Given the description of an element on the screen output the (x, y) to click on. 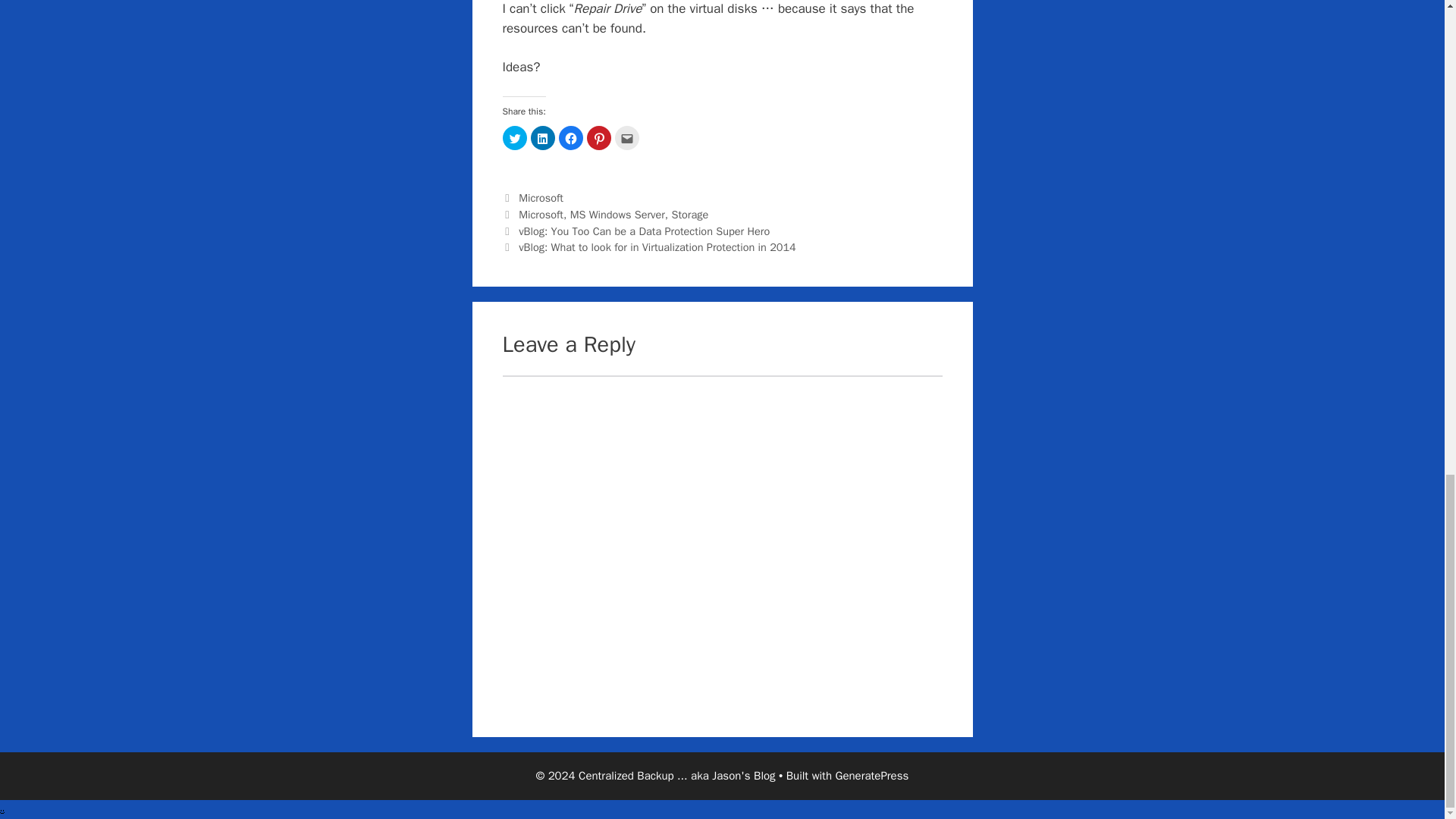
Microsoft (540, 214)
Click to share on Facebook (569, 137)
vBlog: What to look for in Virtualization Protection in 2014 (657, 246)
Click to share on Twitter (513, 137)
Click to email this to a friend (626, 137)
MS Windows Server (617, 214)
Storage (689, 214)
Previous (636, 231)
Click to share on LinkedIn (542, 137)
